Given the description of an element on the screen output the (x, y) to click on. 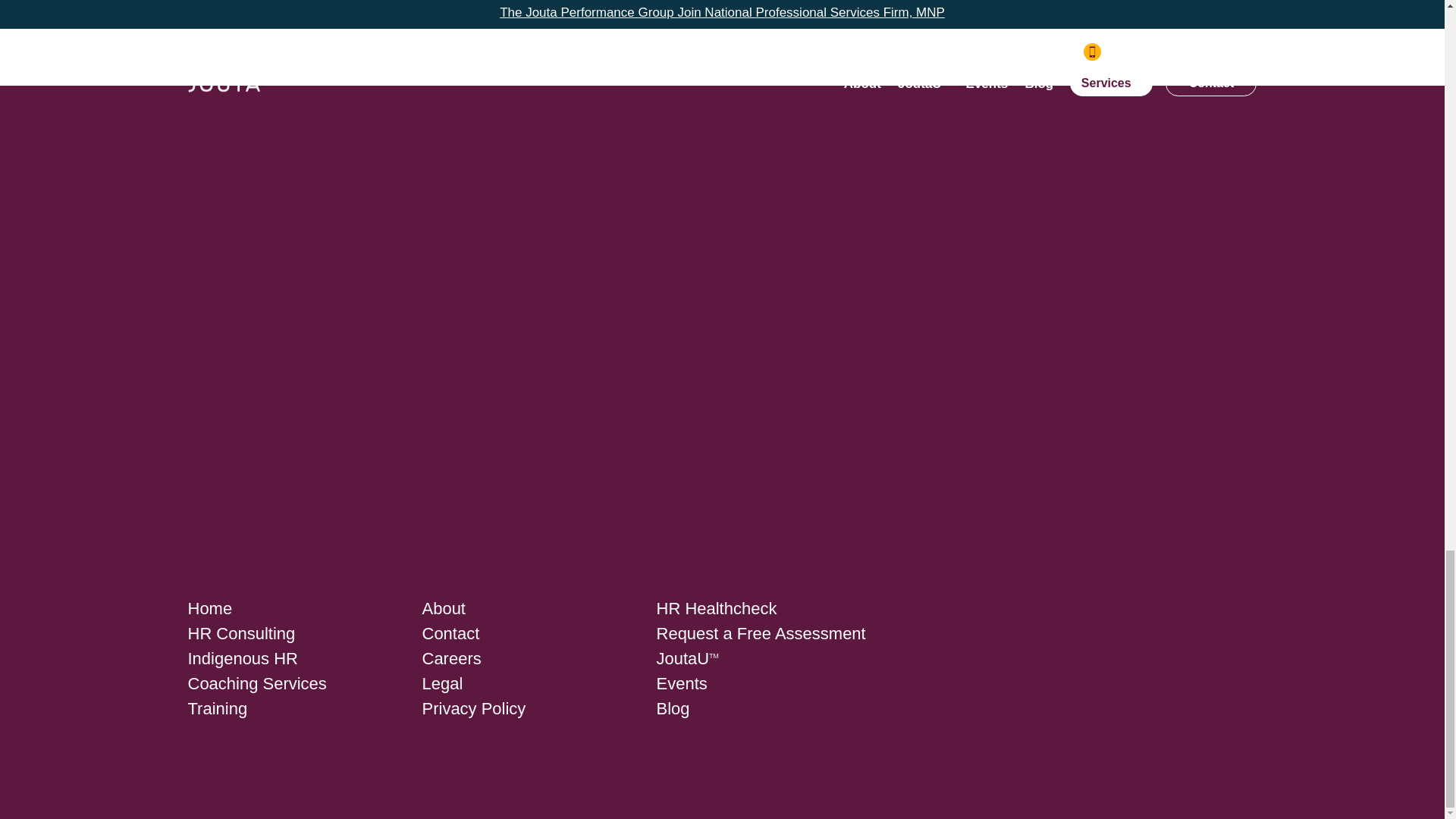
Indigenous HR (242, 658)
NEXT (938, 2)
Jouta (223, 531)
Home (209, 608)
PREV (505, 2)
HR Consulting (241, 633)
